Given the description of an element on the screen output the (x, y) to click on. 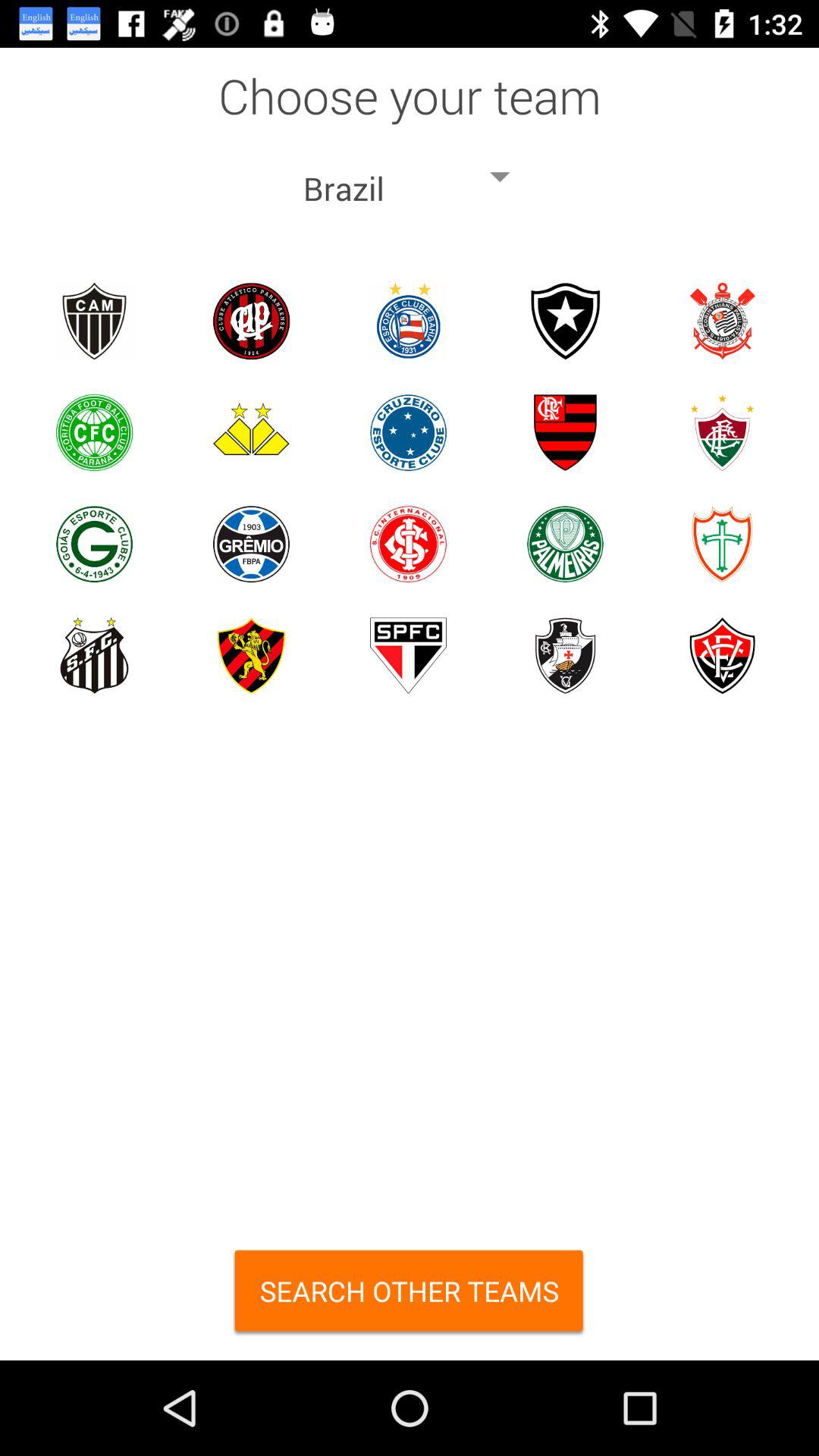
chose selected team (94, 432)
